Given the description of an element on the screen output the (x, y) to click on. 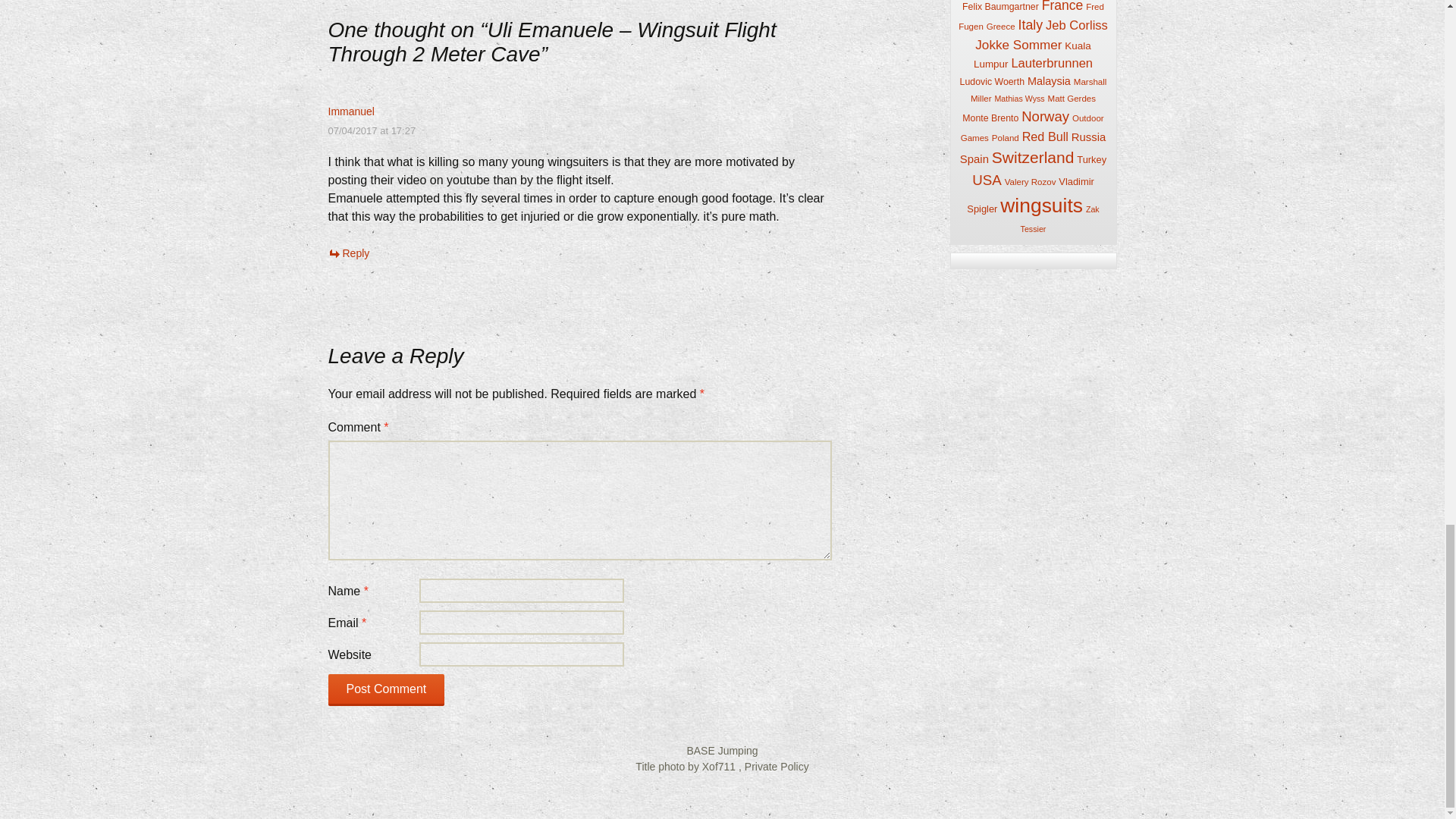
Post Comment (385, 689)
Post Comment (385, 689)
Reply (348, 253)
